Given the description of an element on the screen output the (x, y) to click on. 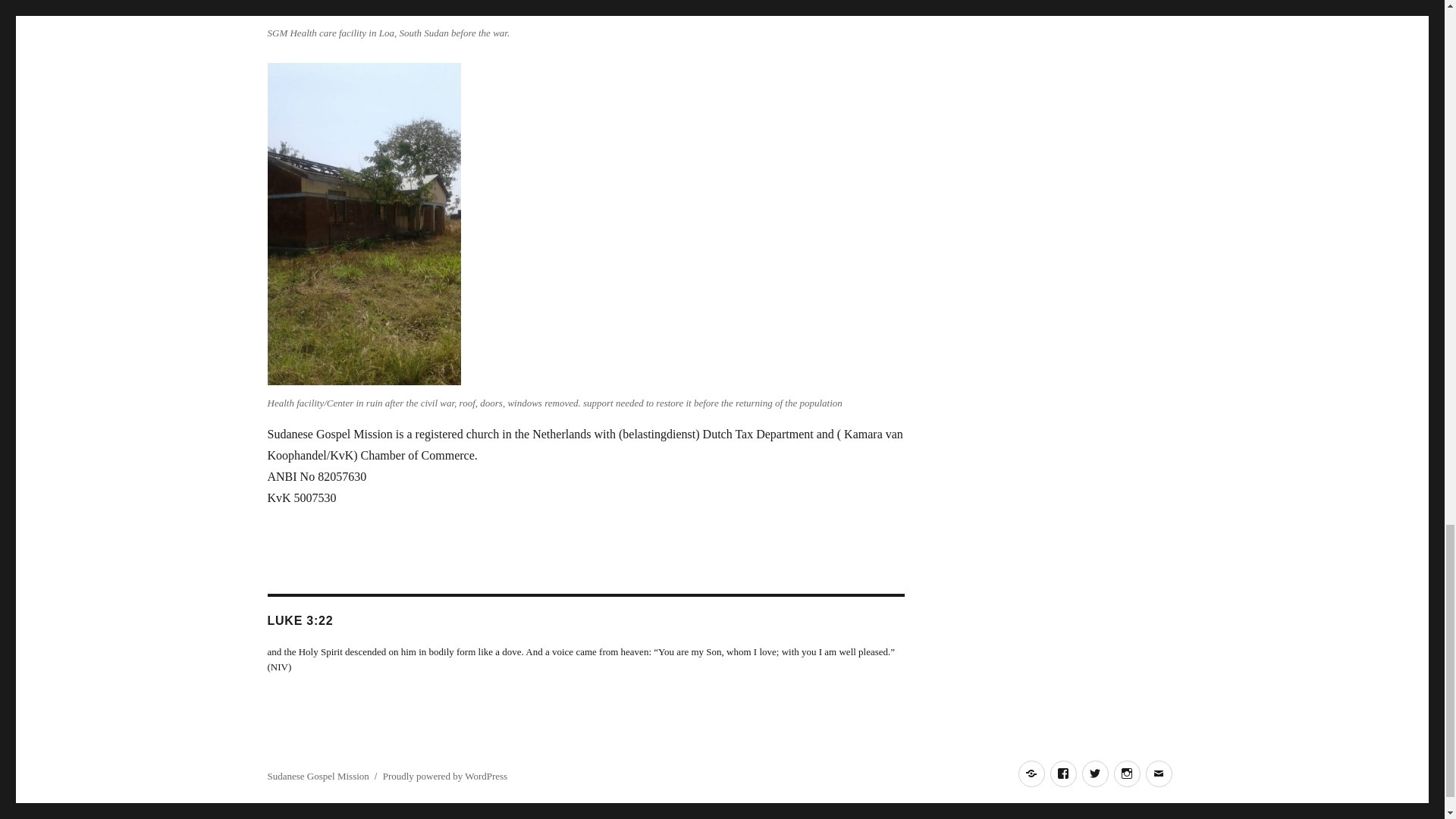
Facebook (1062, 773)
Sudanese Gospel Mission (317, 776)
Twitter (1094, 773)
Instagram (1126, 773)
Proudly powered by WordPress (444, 776)
Email (1158, 773)
Yelp (1030, 773)
